Given the description of an element on the screen output the (x, y) to click on. 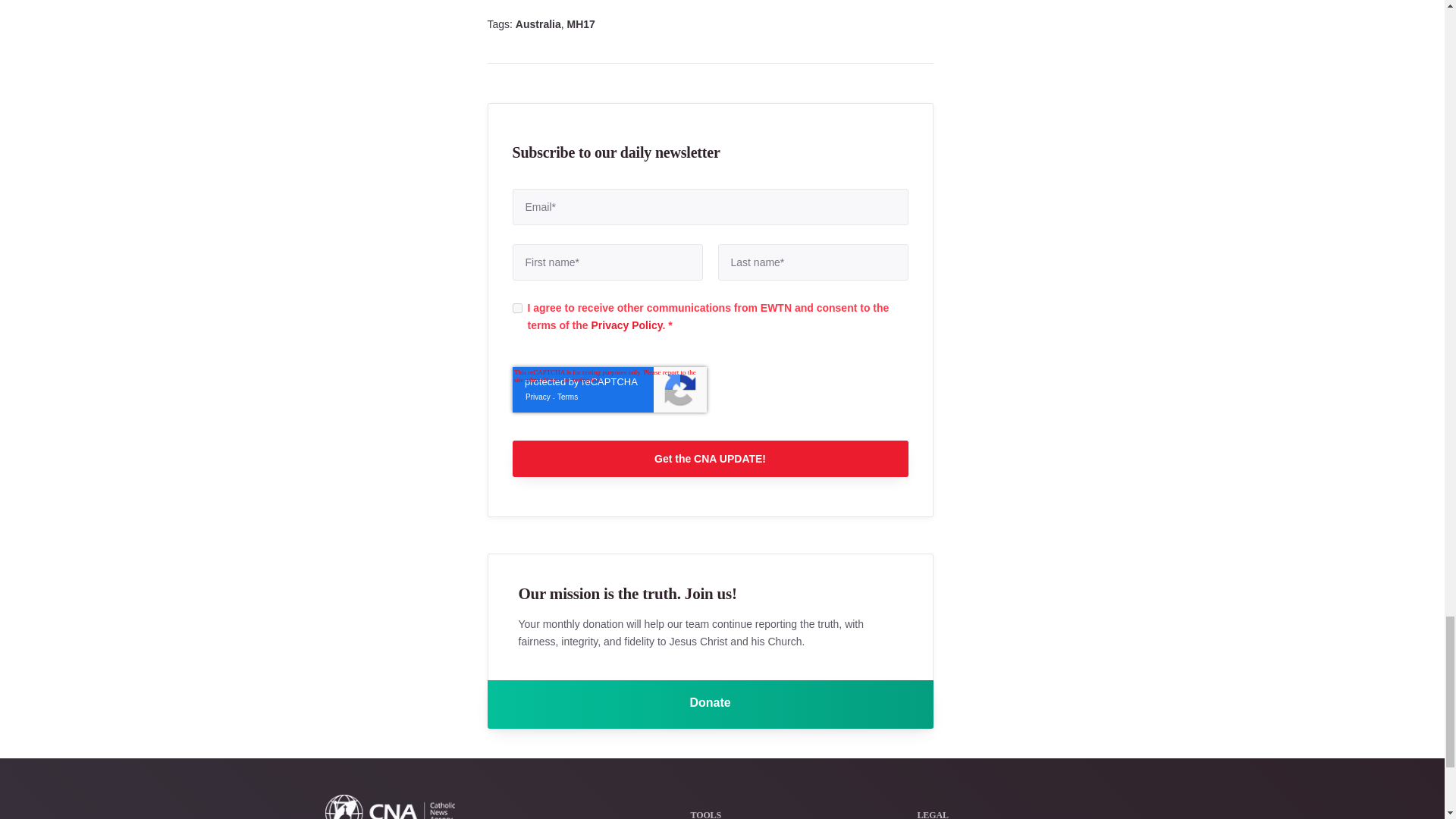
reCAPTCHA (609, 389)
true (517, 307)
Get the CNA UPDATE! (710, 458)
